Given the description of an element on the screen output the (x, y) to click on. 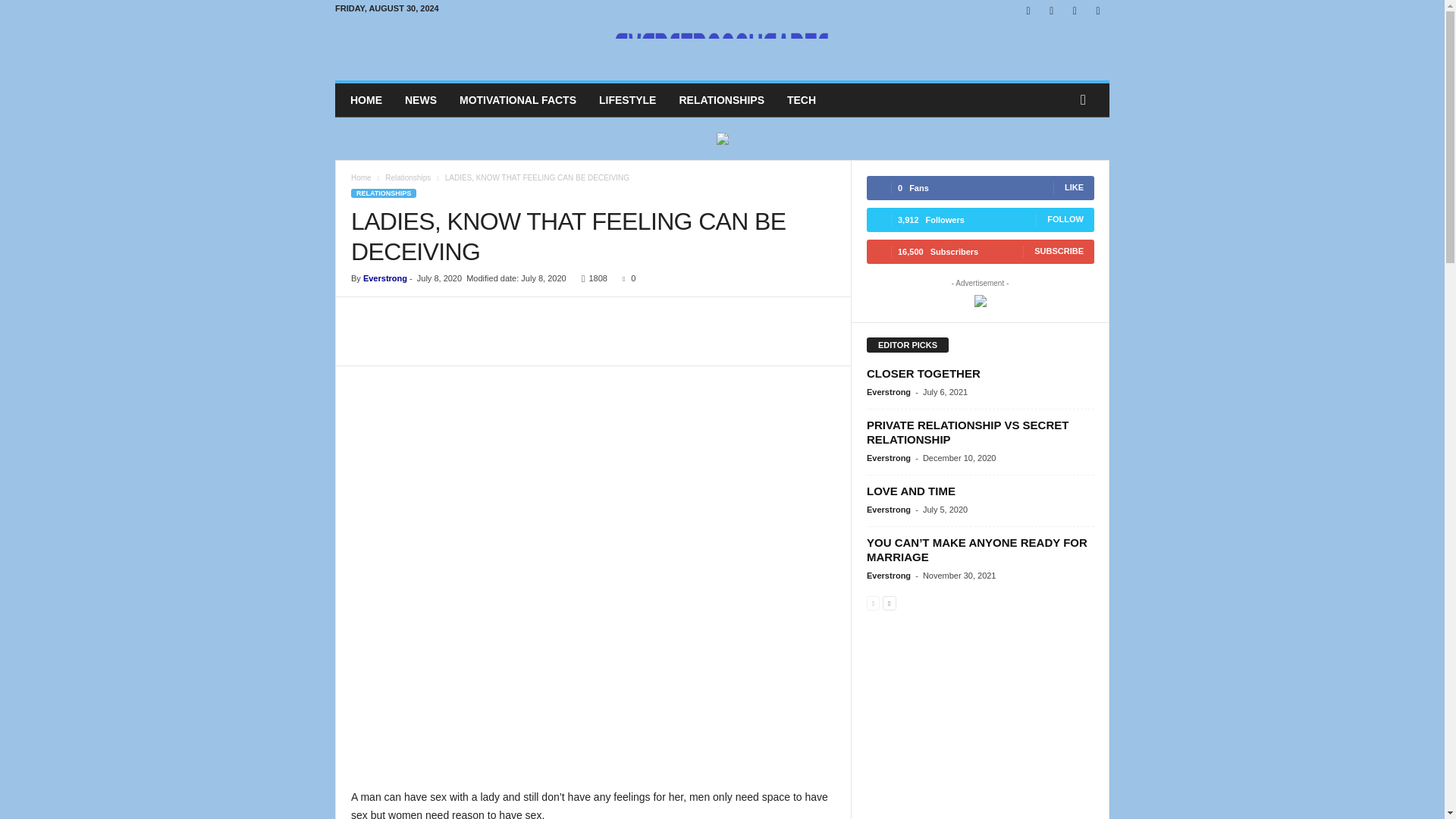
0 (624, 277)
LIFESTYLE (627, 100)
TECH (801, 100)
Home (360, 177)
RELATIONSHIPS (721, 100)
HOME (366, 100)
MOTIVATIONAL FACTS (518, 100)
Relationships (407, 177)
Everstrong (384, 277)
Everstrong Hearts (721, 51)
